Given the description of an element on the screen output the (x, y) to click on. 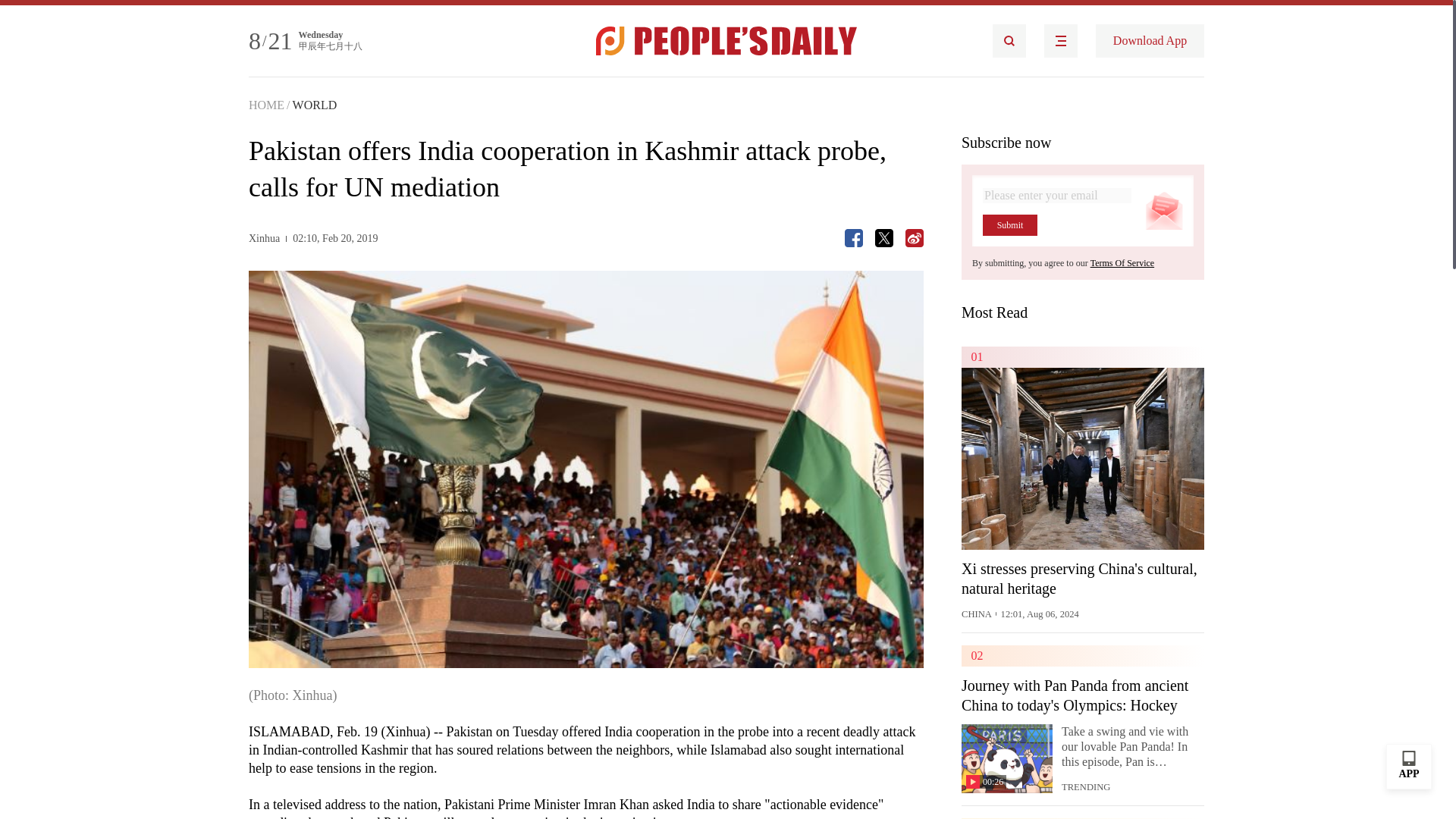
HOME (265, 105)
Download App (1150, 40)
Terms Of Service (1122, 262)
